Given the description of an element on the screen output the (x, y) to click on. 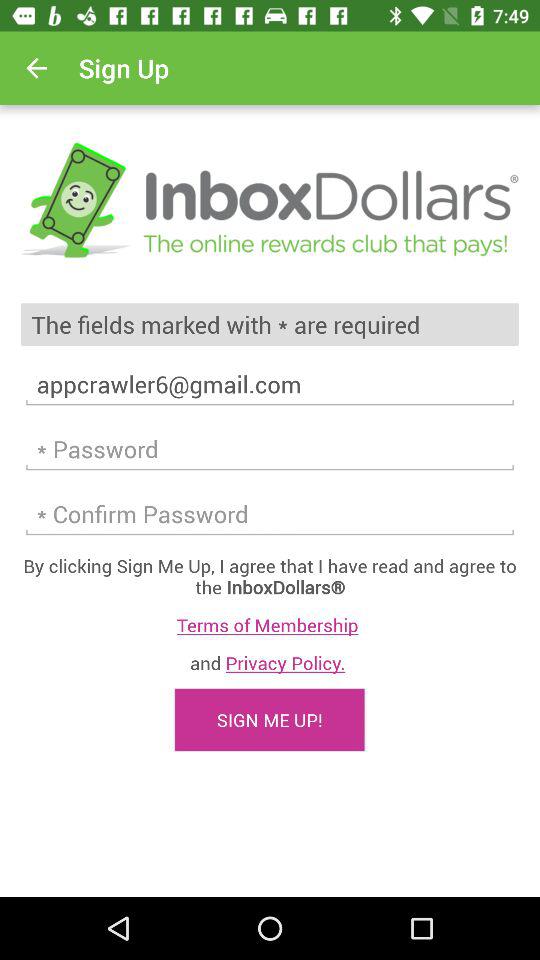
talvez seja somente um problema (270, 449)
